Given the description of an element on the screen output the (x, y) to click on. 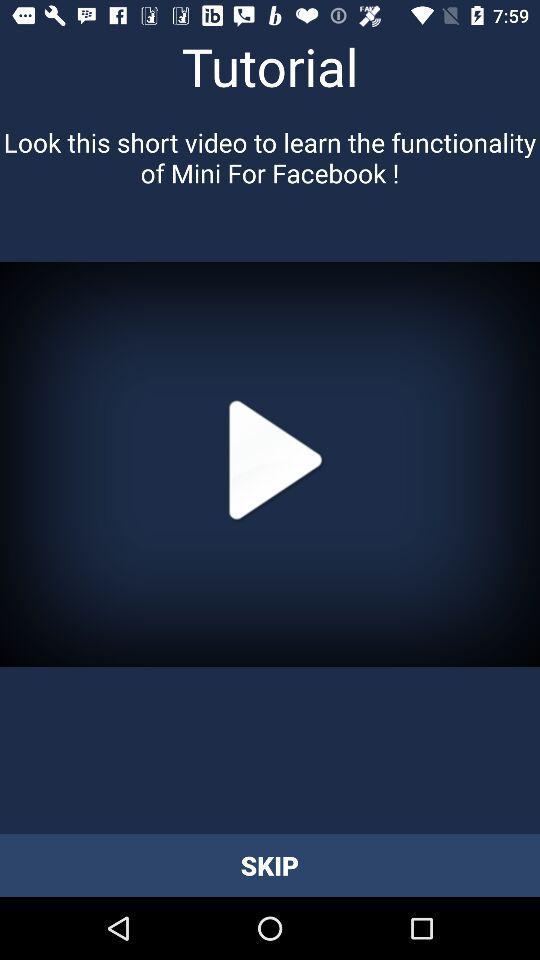
click the button above skip button (270, 463)
